Given the description of an element on the screen output the (x, y) to click on. 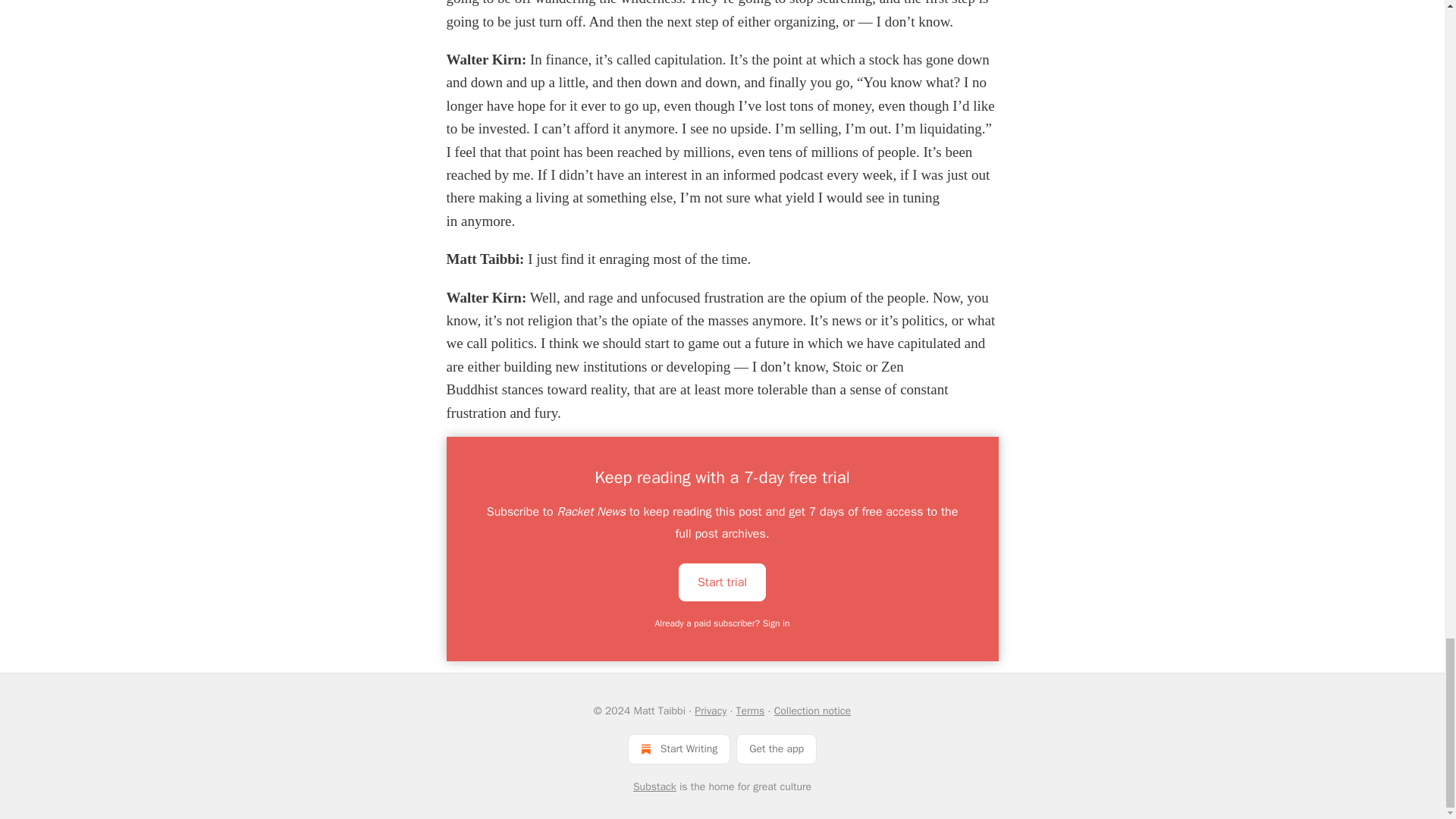
Get the app (776, 748)
Substack (655, 786)
Start Writing (678, 748)
Collection notice (812, 710)
Start trial (721, 582)
Start trial (721, 581)
Already a paid subscriber? Sign in (722, 623)
Terms (750, 710)
Privacy (710, 710)
